Given the description of an element on the screen output the (x, y) to click on. 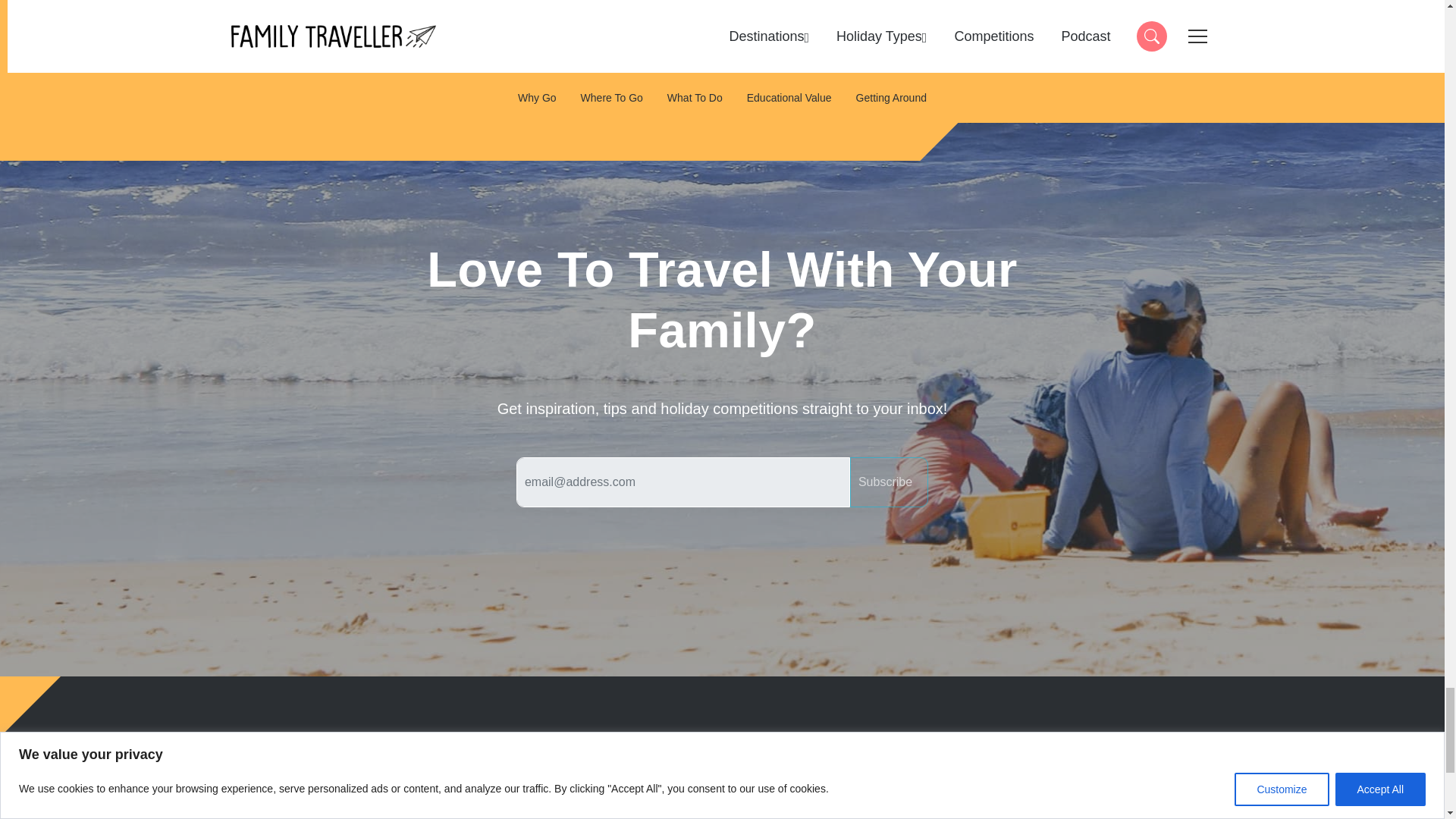
Subscribe (889, 481)
